Given the description of an element on the screen output the (x, y) to click on. 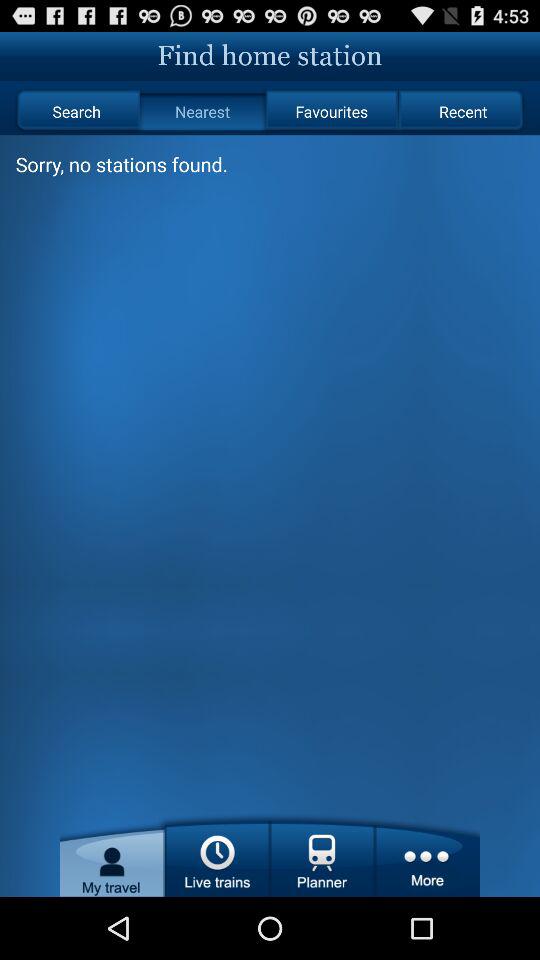
press icon next to the nearest icon (76, 111)
